Given the description of an element on the screen output the (x, y) to click on. 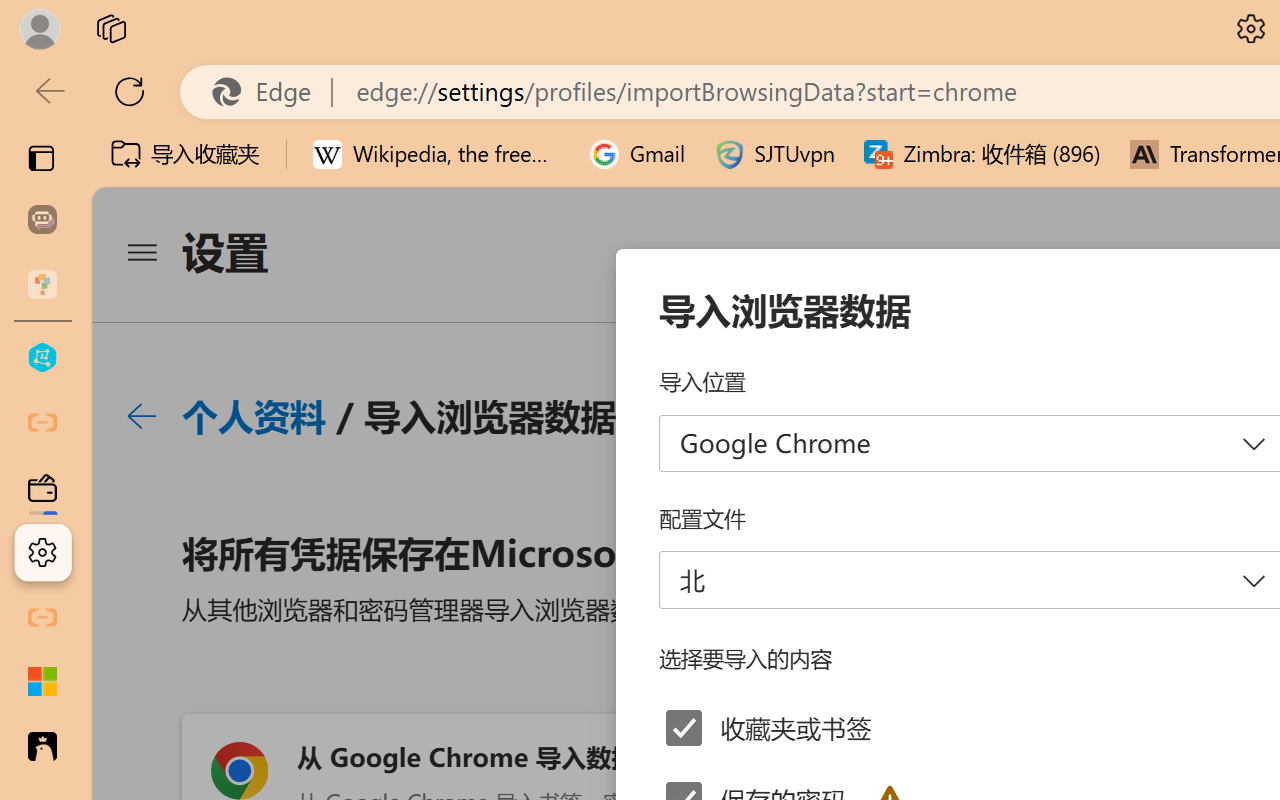
Class: c01179 (141, 416)
Wikipedia, the free encyclopedia (437, 154)
SJTUvpn (774, 154)
wangyian_dsw - DSW (42, 357)
Adjust indents and spacing - Microsoft Support (42, 681)
